Given the description of an element on the screen output the (x, y) to click on. 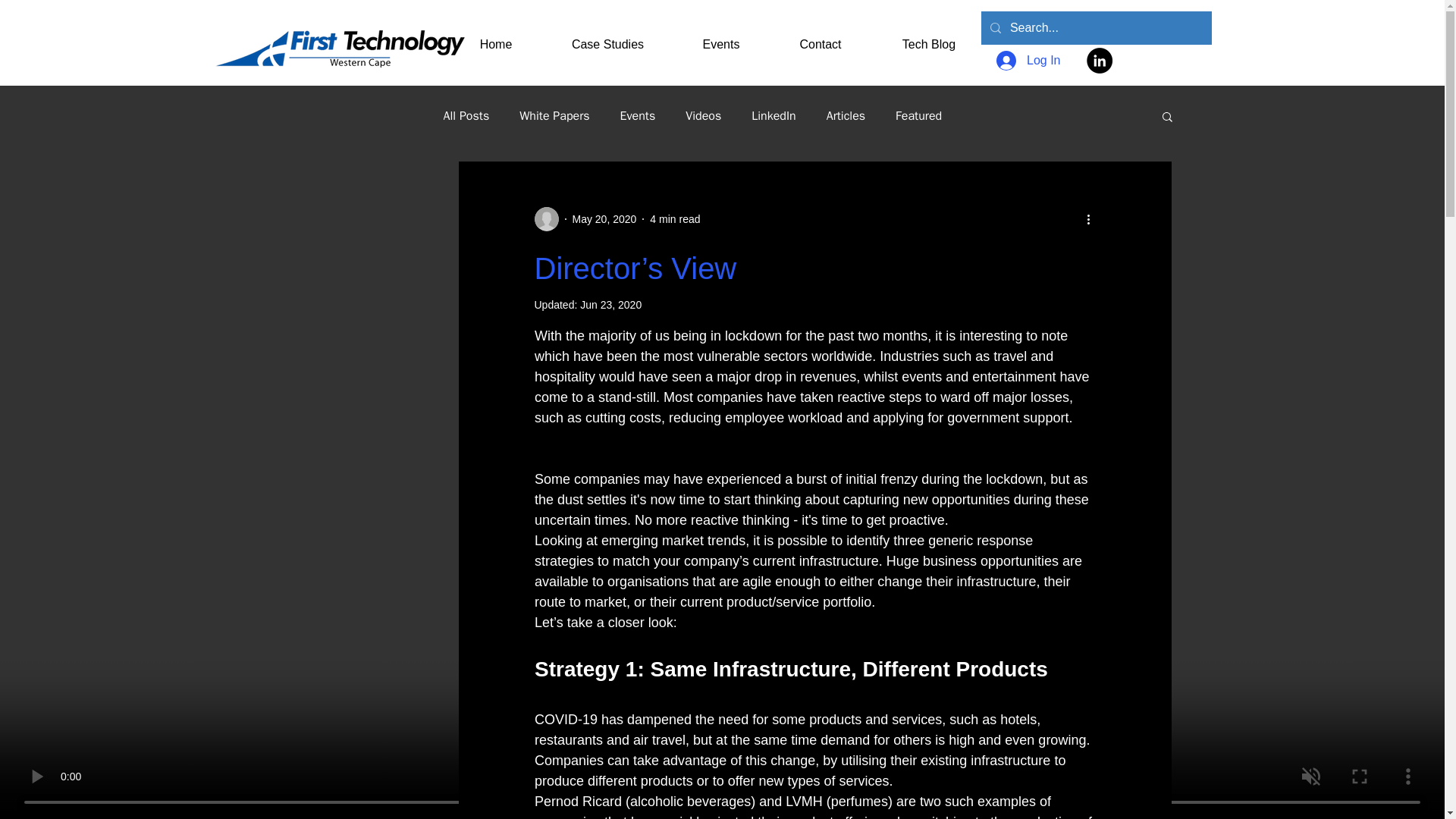
Events (721, 37)
White Papers (554, 115)
Home (494, 37)
Featured (918, 115)
Articles (845, 115)
Jun 23, 2020 (610, 304)
LinkedIn (772, 115)
4 min read (674, 218)
Videos (702, 115)
Events (638, 115)
All Posts (465, 115)
Tech Blog (929, 37)
May 20, 2020 (604, 218)
Log In (1027, 60)
Case Studies (607, 37)
